Given the description of an element on the screen output the (x, y) to click on. 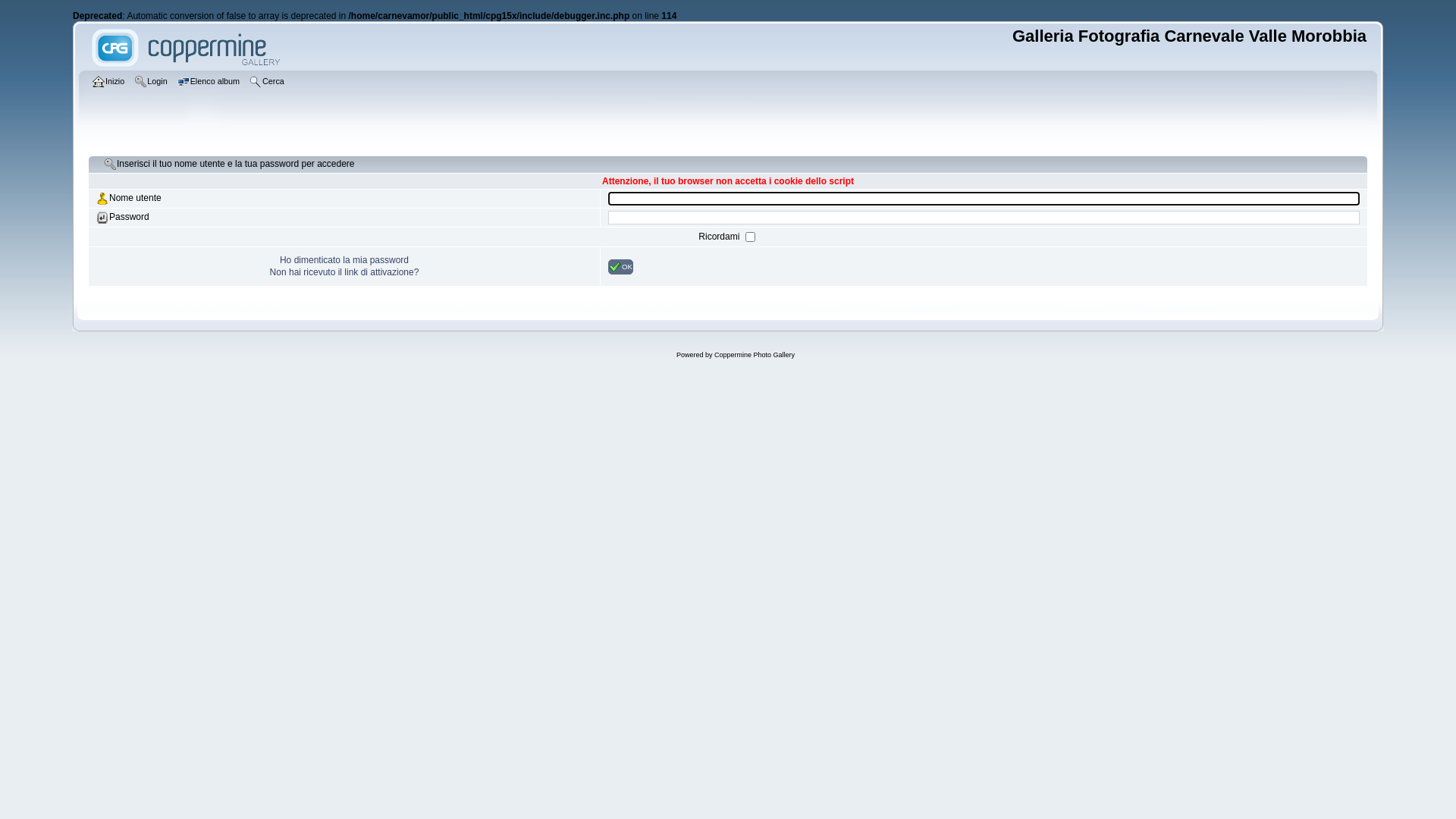
Elenco album Element type: text (210, 82)
OK Element type: text (620, 266)
Ho dimenticato la mia password Element type: text (343, 259)
Non hai ricevuto il link di attivazione? Element type: text (344, 271)
Inizio Element type: text (110, 82)
Cerca Element type: text (268, 82)
Coppermine Photo Gallery Element type: text (754, 354)
Login Element type: text (152, 82)
